Given the description of an element on the screen output the (x, y) to click on. 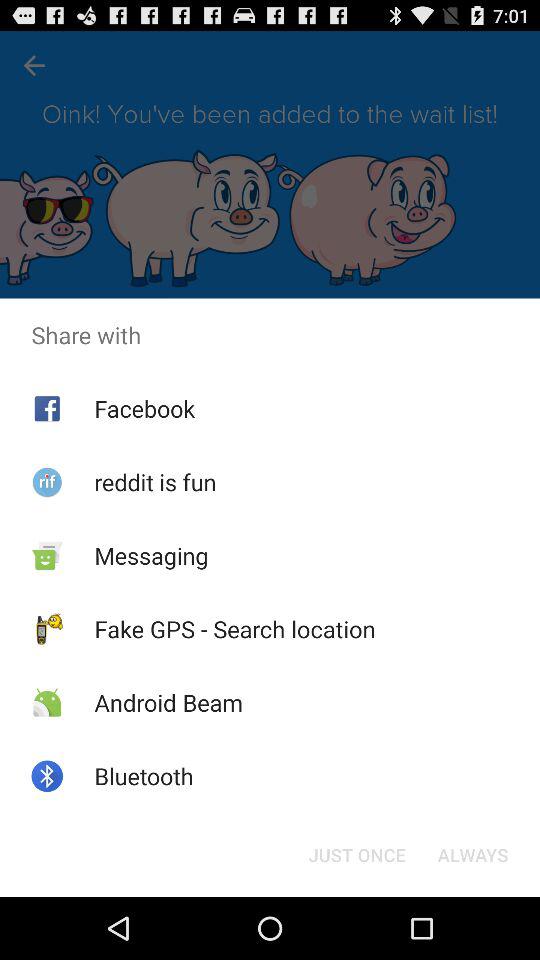
open icon above reddit is fun item (144, 408)
